Given the description of an element on the screen output the (x, y) to click on. 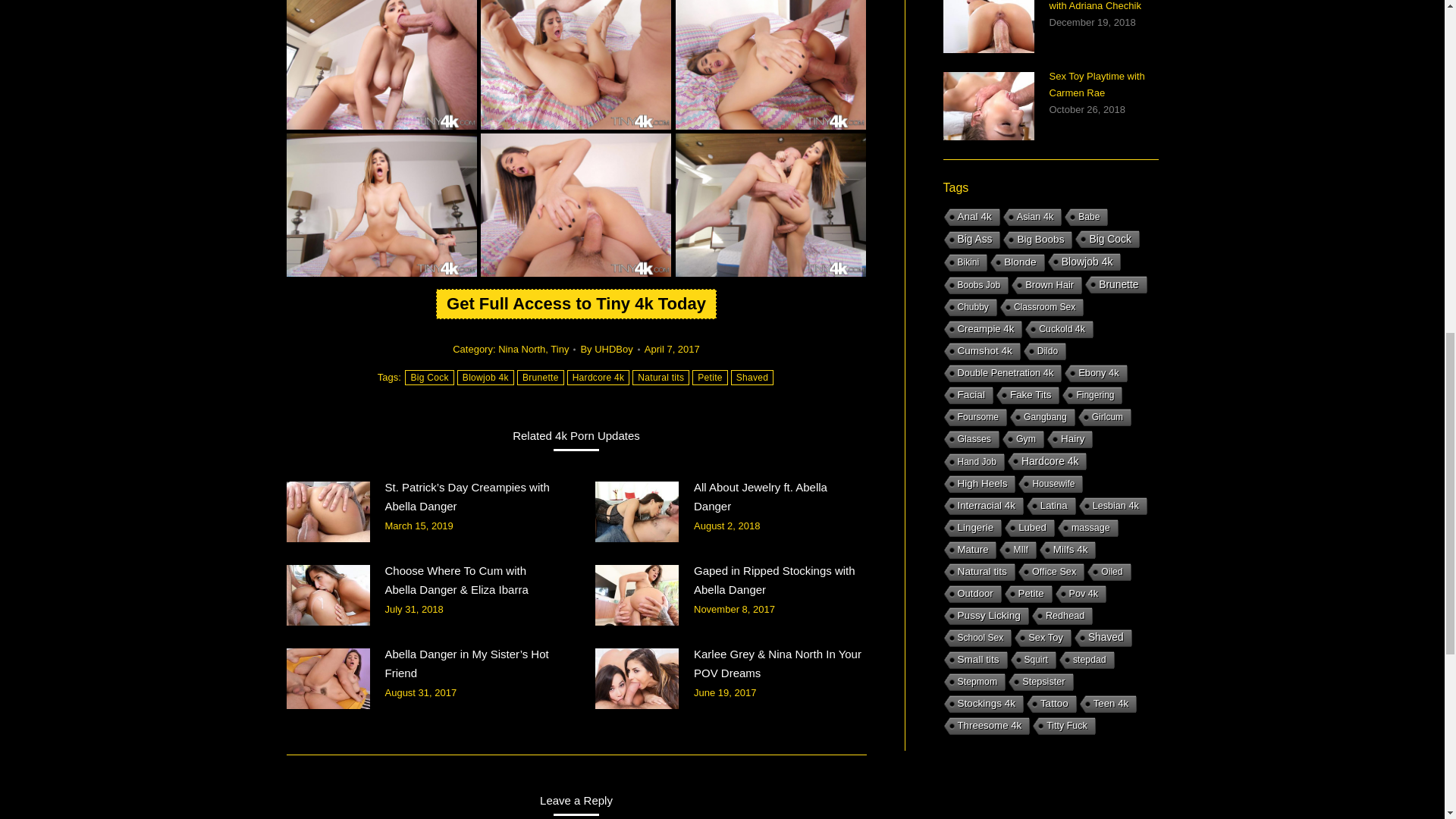
Dirty Dreams nina North 06 (770, 64)
Dirty Dreams nina North 07 (381, 204)
Dirty Dreams nina North 05 (575, 64)
Dirty Dreams nina North 04 (381, 64)
Dirty Dreams nina North 08 (575, 204)
View all posts by UHDBoy (609, 348)
Dirty Dreams nina North 09 (770, 204)
